Given the description of an element on the screen output the (x, y) to click on. 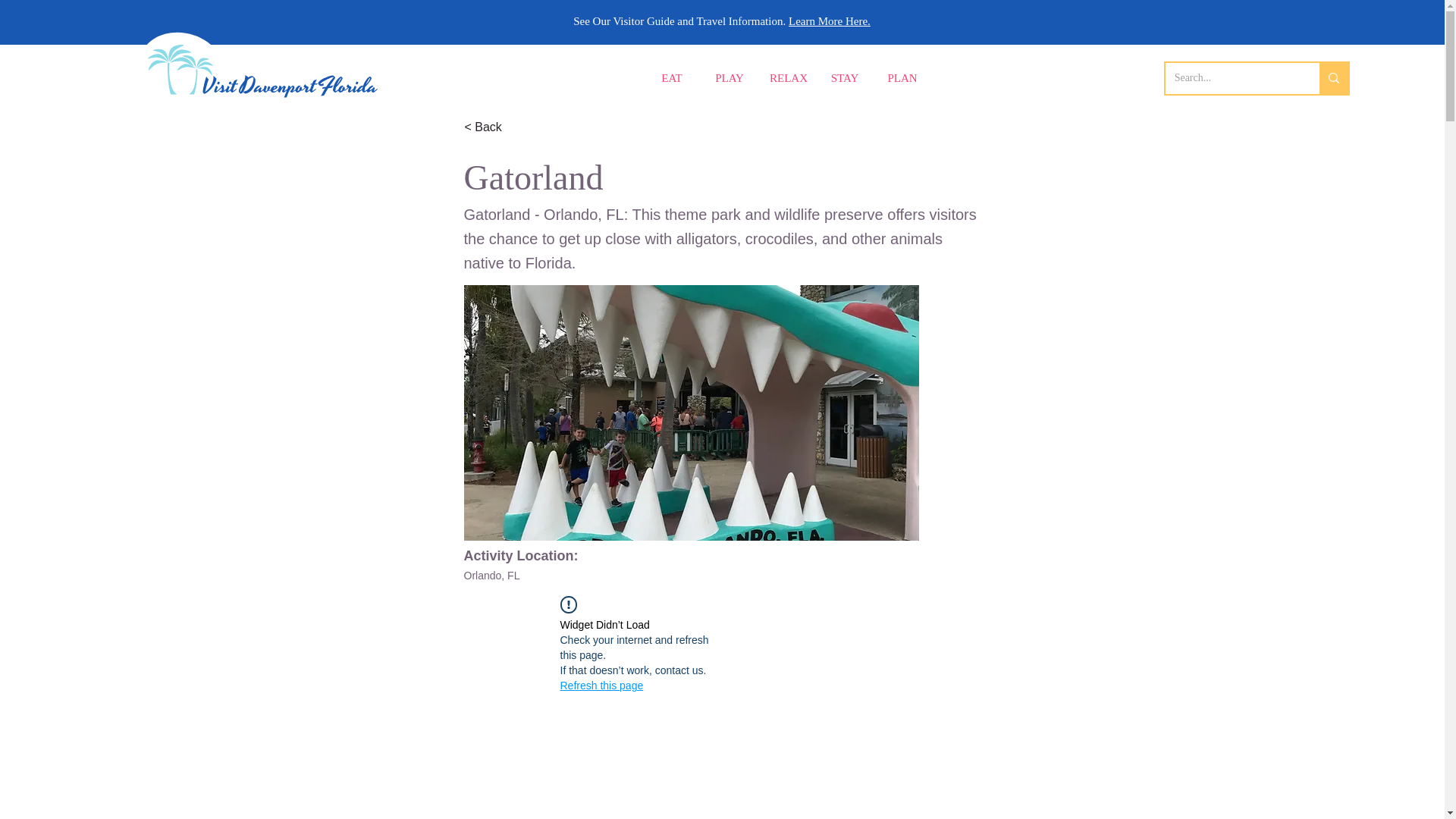
PLAY (729, 78)
Learn More Here. (829, 21)
RELAX (786, 78)
STAY (844, 78)
EAT (671, 78)
Refresh this page (601, 685)
Gatorland Orlando Florida entrance.JPG (691, 412)
